Given the description of an element on the screen output the (x, y) to click on. 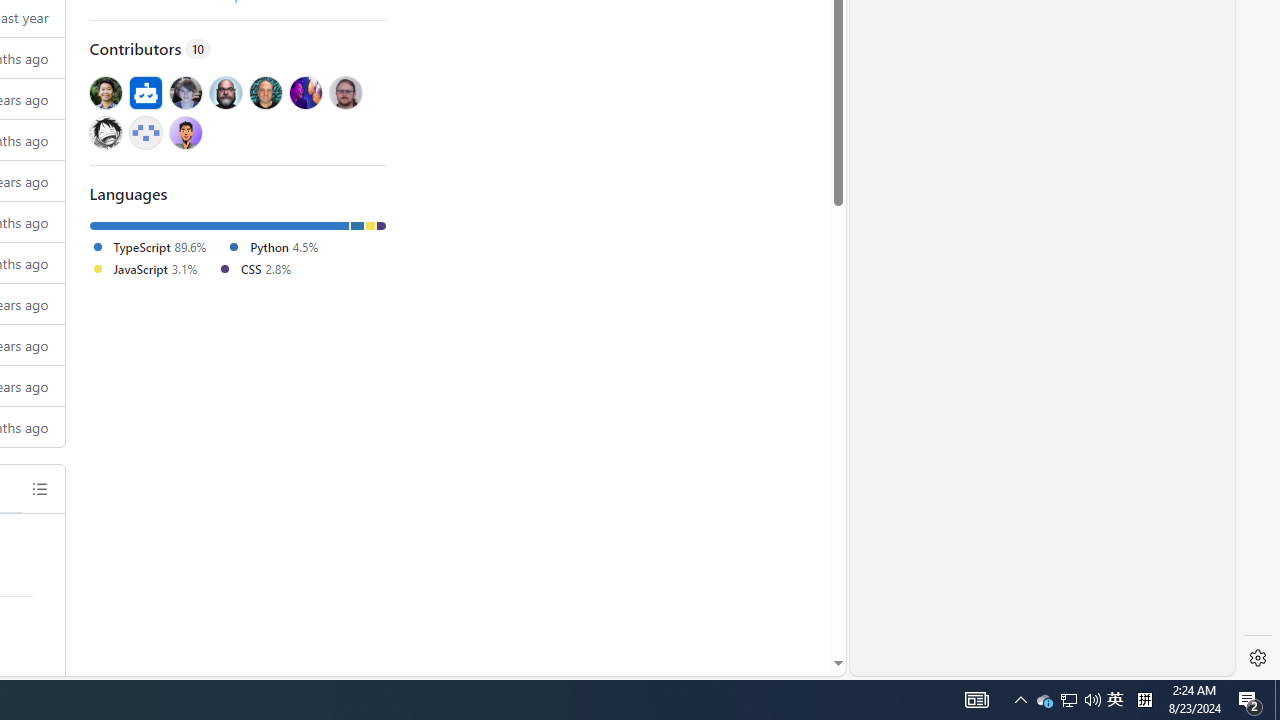
@dguo (105, 92)
Outline (39, 488)
